Given the description of an element on the screen output the (x, y) to click on. 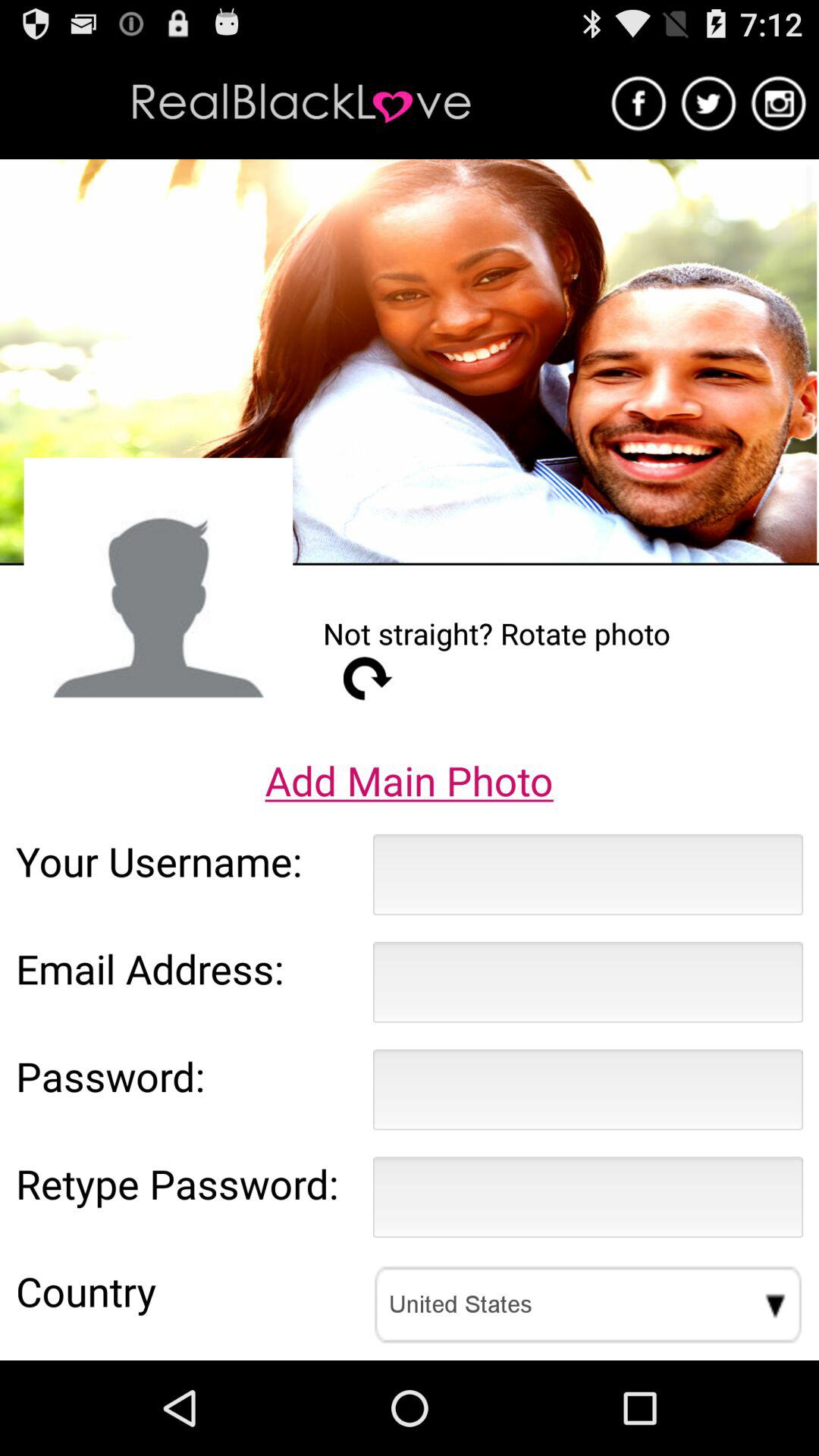
turn off the item above add main photo item (157, 591)
